Given the description of an element on the screen output the (x, y) to click on. 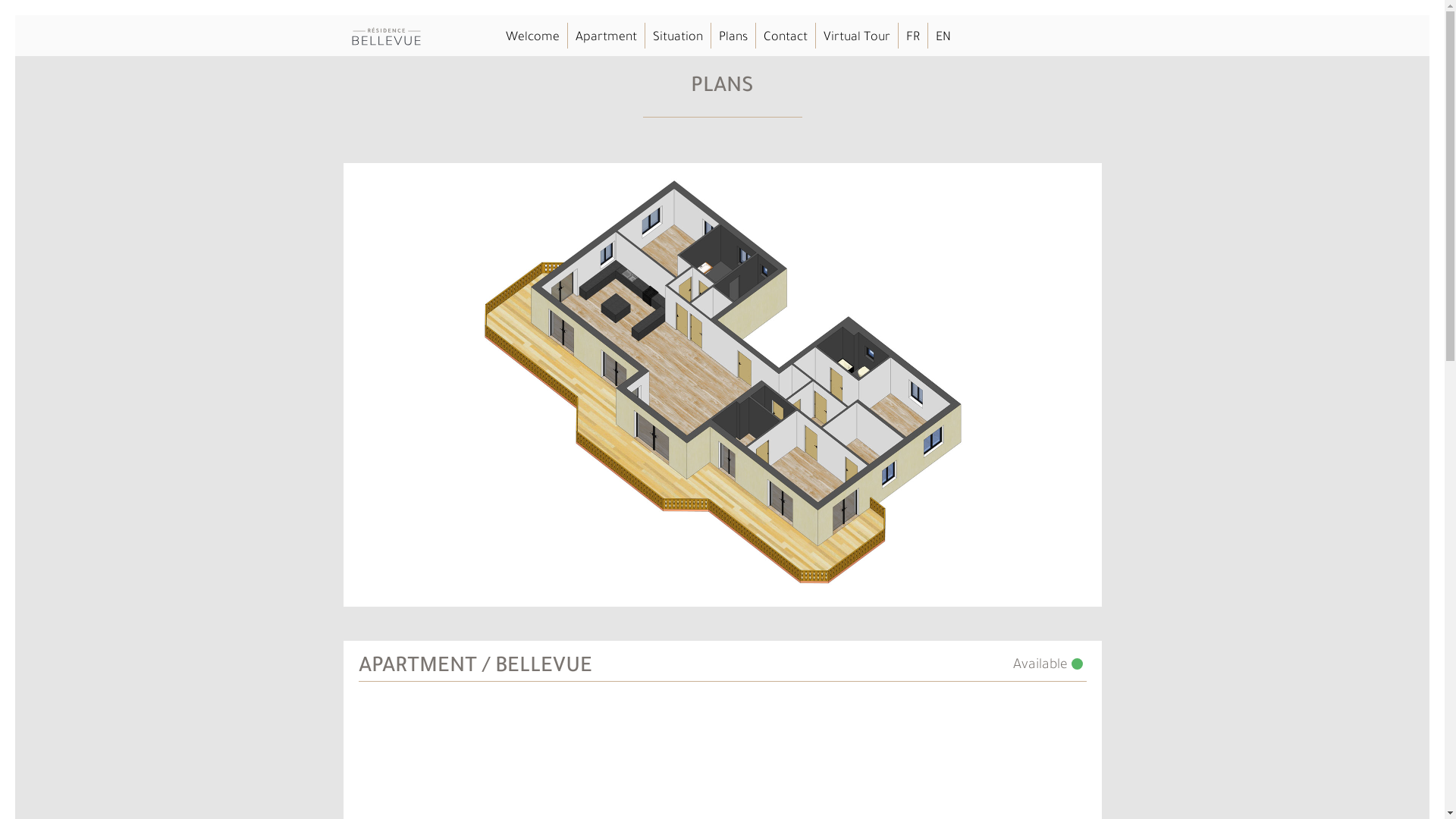
Situation Element type: text (677, 37)
FR Element type: text (912, 37)
EN Element type: text (942, 37)
Welcome Element type: text (531, 37)
Contact Element type: text (784, 37)
Virtual Tour Element type: text (856, 37)
Apartment Element type: text (605, 37)
Plans Element type: text (732, 37)
